Given the description of an element on the screen output the (x, y) to click on. 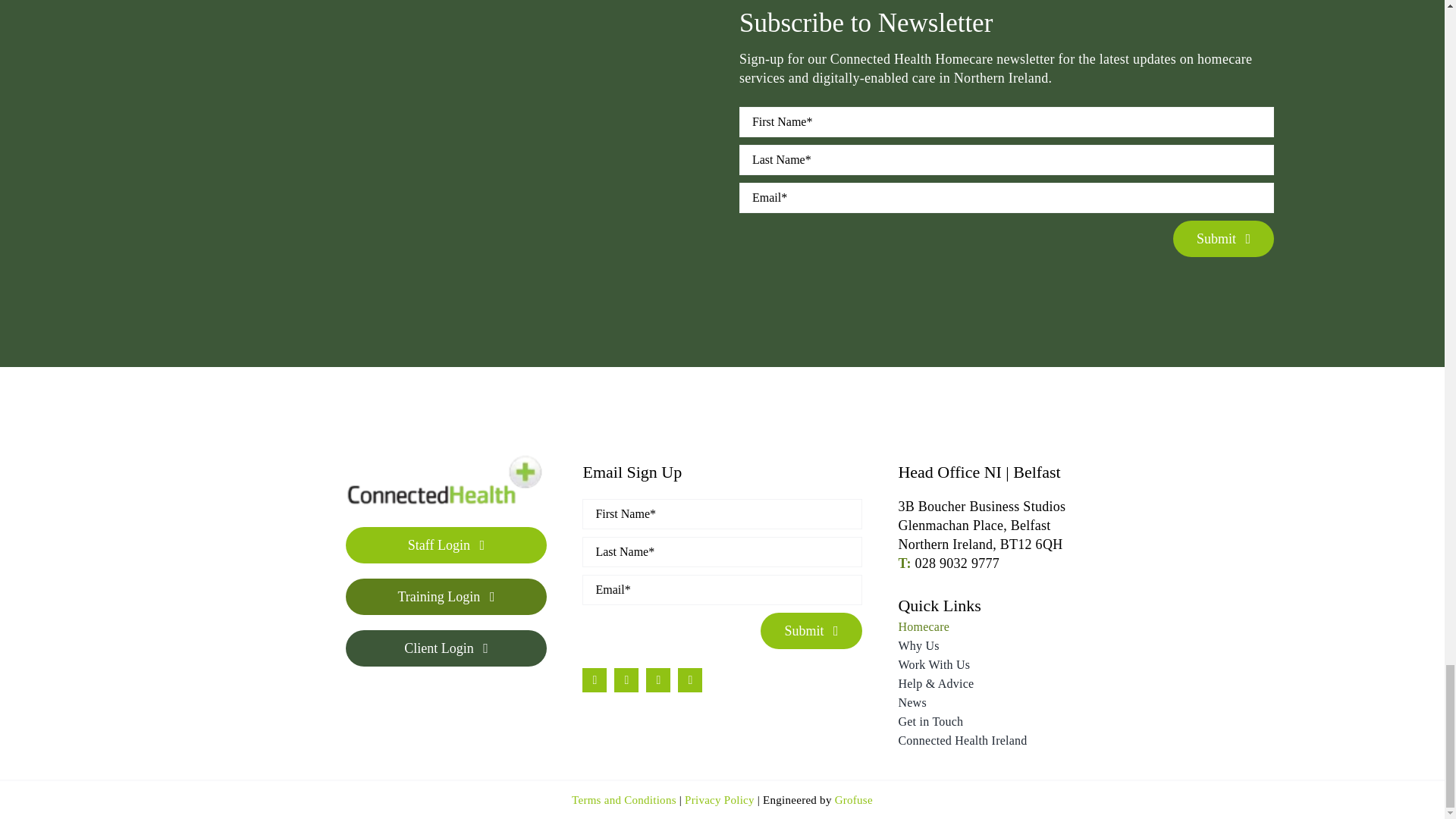
Submit (721, 581)
Submit (1006, 189)
